Given the description of an element on the screen output the (x, y) to click on. 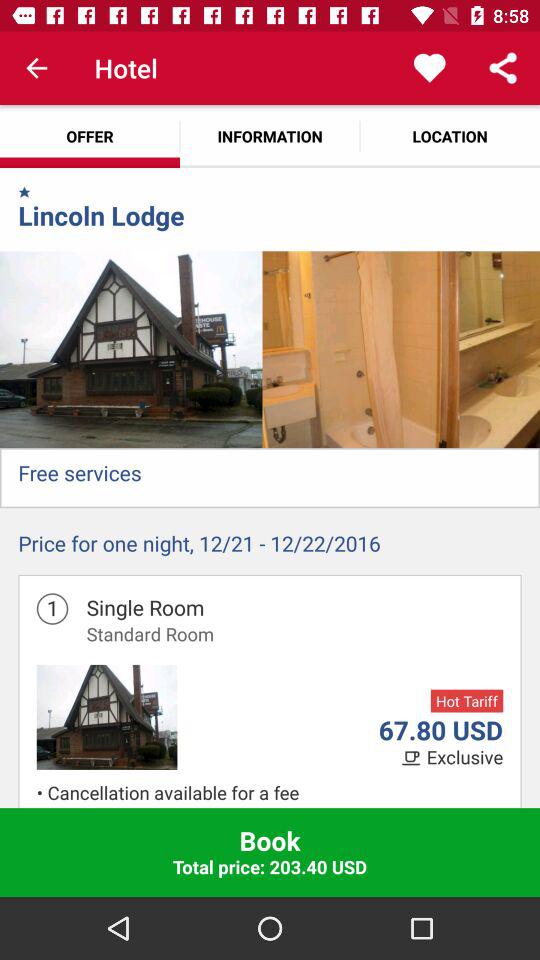
click app above the offer app (36, 68)
